Given the description of an element on the screen output the (x, y) to click on. 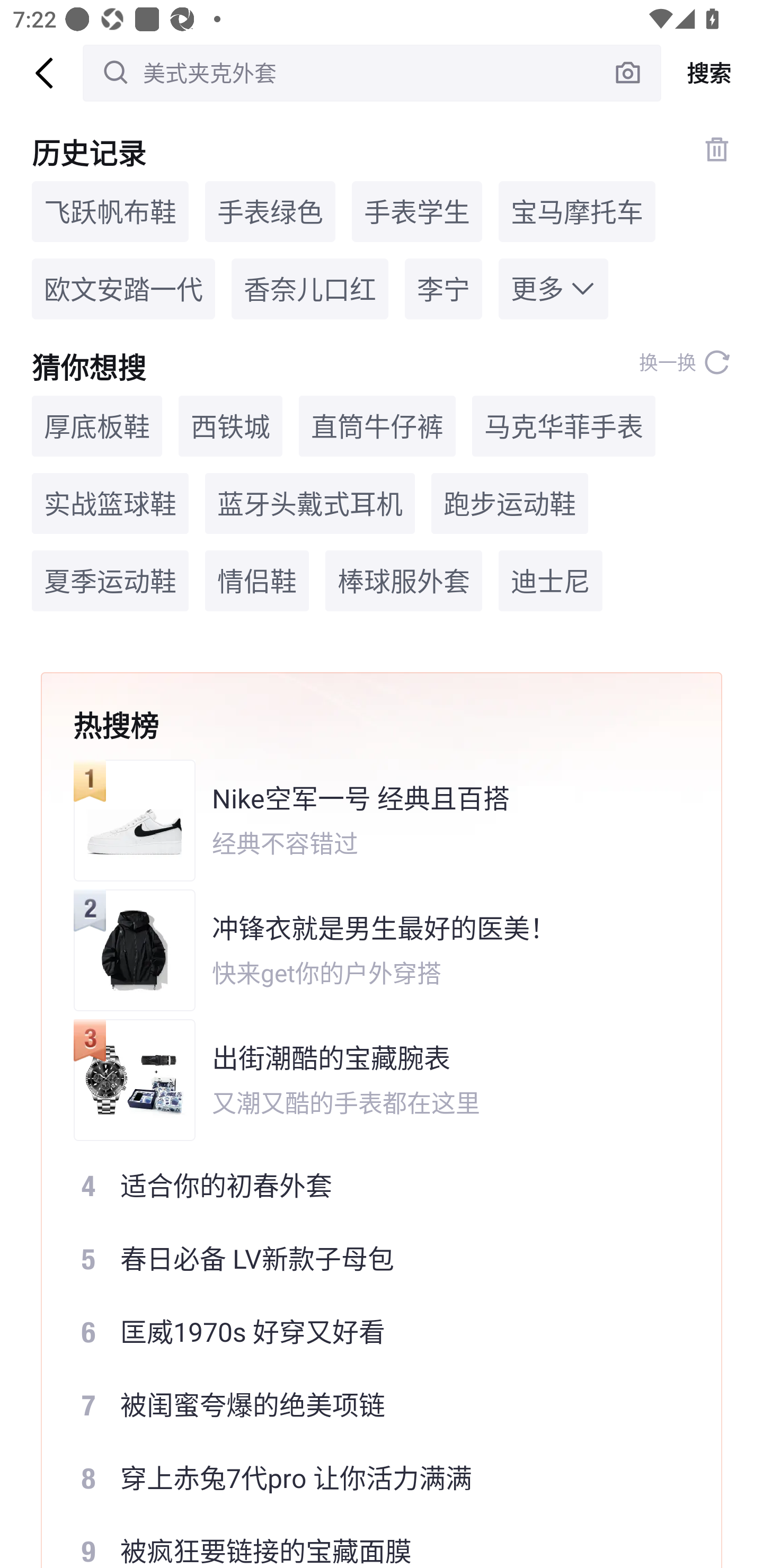
搜索 (712, 72)
美式夹克外套 (371, 72)
飞跃帆布鞋 (110, 211)
手表绿色 (270, 211)
手表学生 (416, 211)
宝马摩托车 (576, 211)
欧文安踏一代 (123, 288)
香奈儿口红 (309, 288)
李宁 (443, 288)
更多  (553, 288)
换一换 (684, 362)
厚底板鞋 (96, 425)
西铁城 (230, 425)
直筒牛仔裤 (377, 425)
马克华菲手表 (563, 425)
实战篮球鞋 (110, 503)
蓝牙头戴式耳机 (310, 503)
跑步运动鞋 (509, 503)
夏季运动鞋 (110, 580)
情侣鞋 (257, 580)
棒球服外套 (403, 580)
迪士尼 (550, 580)
Nike空军一号 经典且百搭 经典不容错过 (369, 819)
冲锋衣就是男生最好的医美！ 快来get你的户外穿搭 (369, 950)
出街潮酷的宝藏腕表 又潮又酷的手表都在这里 (369, 1080)
4 适合你的初春外套 (369, 1185)
5 春日必备 LV新款子母包 (369, 1258)
6 匡威1970s 好穿又好看 (369, 1331)
7 被闺蜜夸爆的绝美项链 (369, 1404)
8 穿上赤兔7代pro 让你活力满满 (369, 1477)
9 被疯狂要链接的宝藏面膜 (369, 1541)
